Given the description of an element on the screen output the (x, y) to click on. 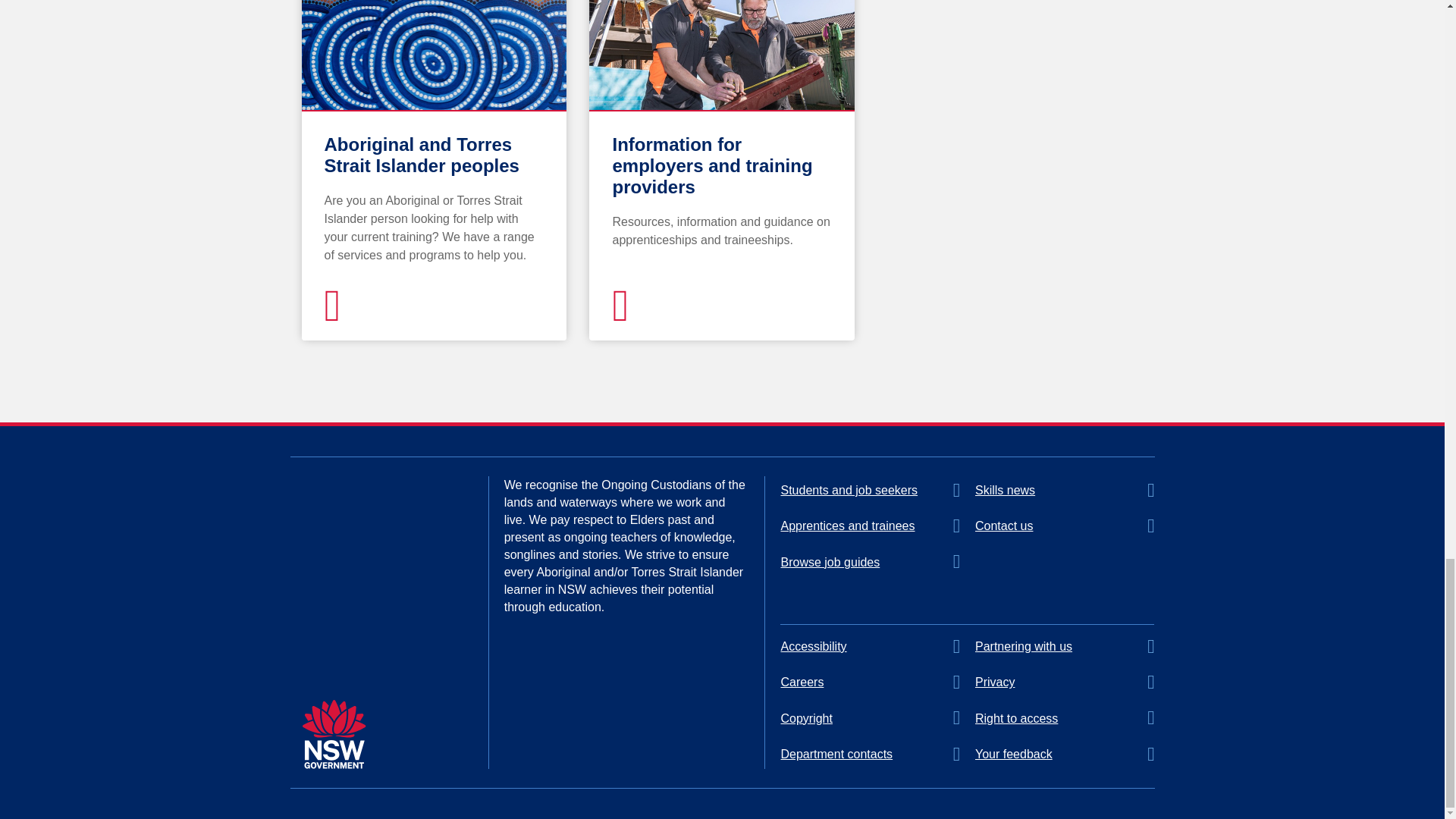
NSW Government (333, 734)
